Given the description of an element on the screen output the (x, y) to click on. 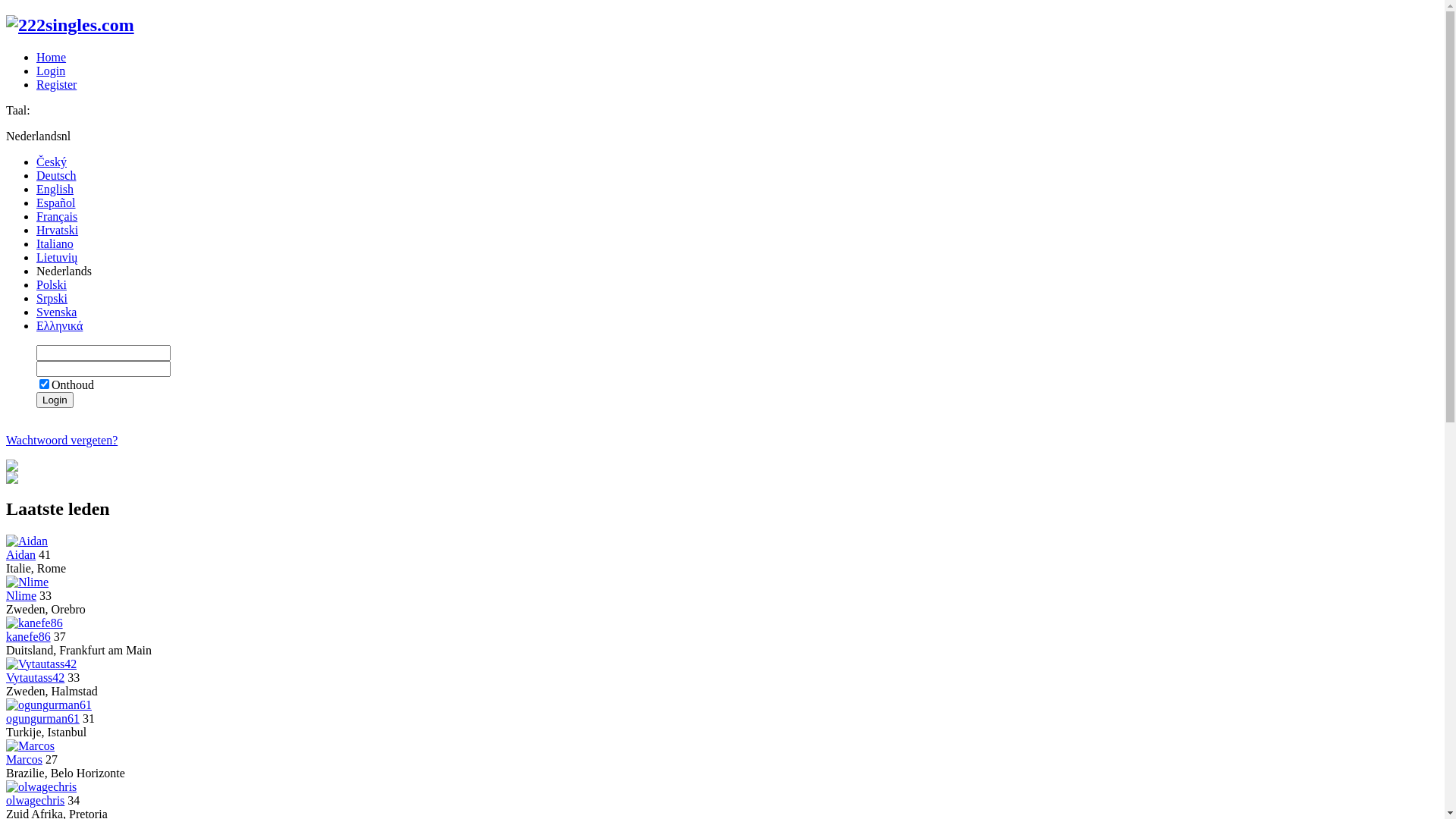
Login Element type: text (50, 70)
Login Element type: text (54, 399)
Marcos Element type: hover (30, 745)
Deutsch Element type: text (55, 175)
Wachtwoord vergeten? Element type: text (61, 439)
kanefe86 Element type: text (28, 636)
English Element type: text (54, 188)
Nlime Element type: text (21, 595)
Vytautass42 Element type: text (35, 677)
olwagechris Element type: text (35, 799)
olwagechris Element type: hover (41, 786)
Vytautass42 Element type: hover (41, 663)
Italiano Element type: text (54, 243)
Aidan Element type: text (20, 554)
Register Element type: text (56, 84)
Srpski Element type: text (51, 297)
Home Element type: text (50, 56)
ogungurman61 Element type: text (42, 718)
ogungurman61 Element type: hover (48, 704)
Aidan Element type: hover (26, 540)
Svenska Element type: text (56, 311)
kanefe86 Element type: hover (34, 622)
Polski Element type: text (51, 284)
Hrvatski Element type: text (57, 229)
Marcos Element type: text (24, 759)
Nlime Element type: hover (27, 581)
